Given the description of an element on the screen output the (x, y) to click on. 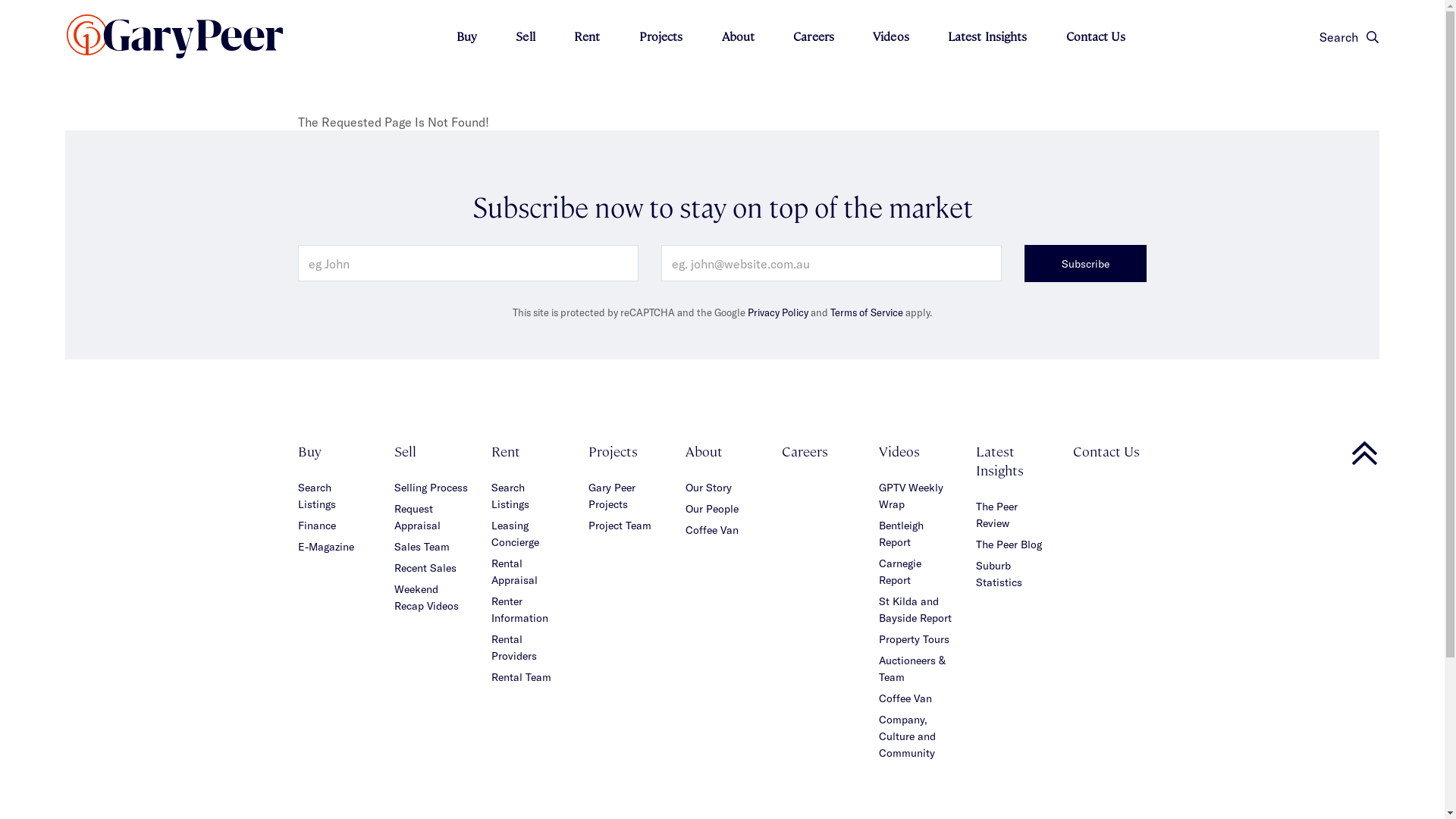
E-Magazine Element type: text (325, 545)
Careers Element type: text (813, 36)
Bentleigh Report Element type: text (900, 533)
Subscribe Element type: text (1085, 263)
Selling Process Element type: text (430, 486)
Coffee Van Element type: text (904, 697)
Privacy Policy Element type: text (777, 312)
Our People Element type: text (711, 508)
The Peer Review Element type: text (996, 514)
Rental Providers Element type: text (513, 647)
GPTV Weekly Wrap Element type: text (910, 495)
The Peer Blog Element type: text (1008, 543)
Our Story Element type: text (708, 486)
Videos Element type: text (890, 36)
Request Appraisal Element type: text (417, 516)
Search Listings Element type: text (316, 495)
Recent Sales Element type: text (425, 567)
Terms of Service Element type: text (866, 312)
Renter Information Element type: text (519, 609)
Leasing Concierge Element type: text (515, 533)
Property Tours Element type: text (913, 638)
Carnegie Report Element type: text (899, 571)
Rental Team Element type: text (521, 676)
Careers Element type: text (804, 450)
Suburb Statistics Element type: text (998, 573)
Search Listings Element type: text (510, 495)
Gary Peer Projects Element type: text (611, 495)
Project Team Element type: text (619, 524)
Coffee Van Element type: text (711, 529)
St Kilda and Bayside Report Element type: text (914, 609)
Auctioneers & Team Element type: text (911, 668)
Sales Team Element type: text (421, 545)
Weekend Recap Videos Element type: text (426, 596)
Contact Us Element type: text (1106, 450)
Videos Element type: text (898, 450)
Contact Us Element type: text (1095, 36)
Rental Appraisal Element type: text (514, 571)
Finance Element type: text (316, 524)
Company, Culture and Community Element type: text (906, 735)
